Given the description of an element on the screen output the (x, y) to click on. 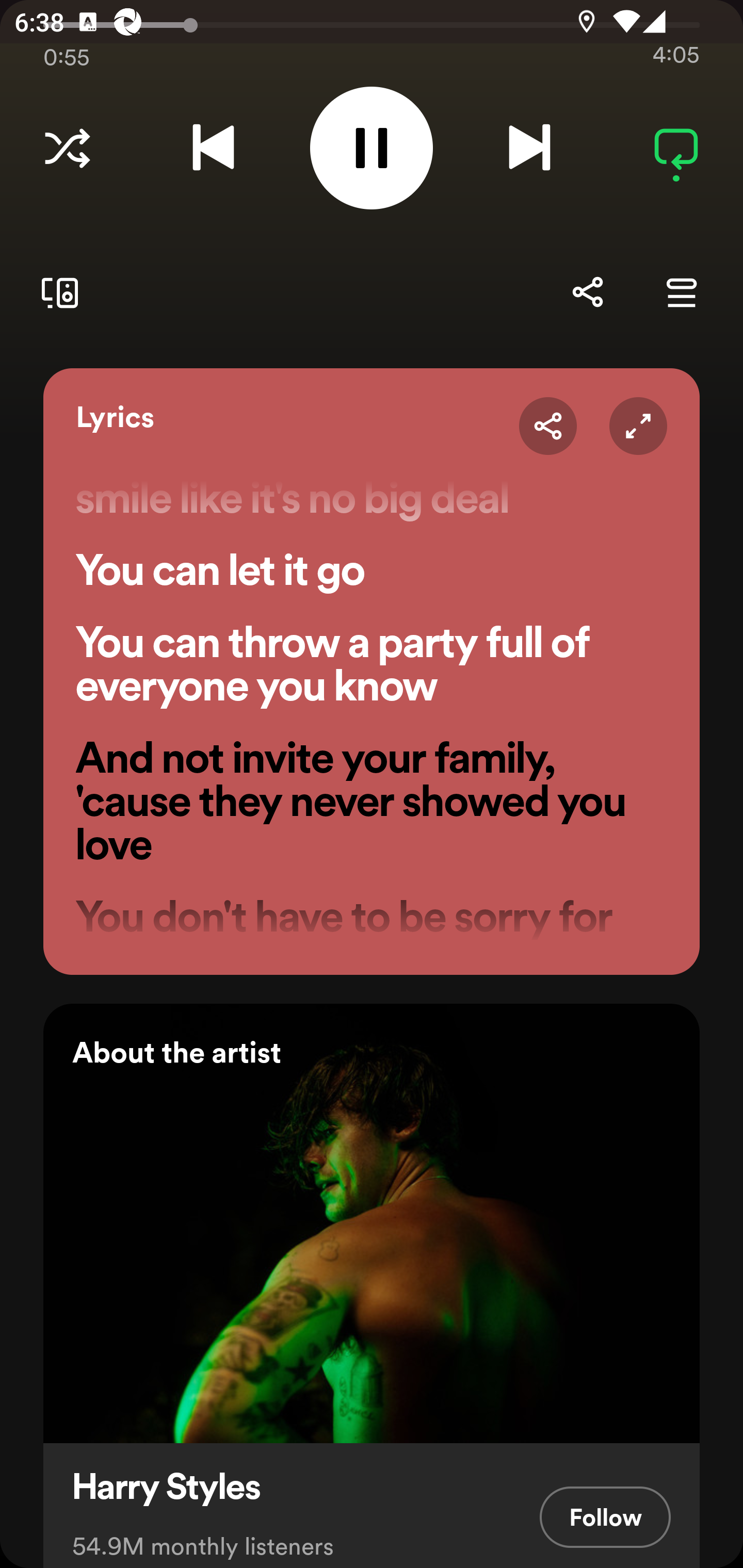
Pause (371, 148)
Previous (212, 147)
Next (529, 147)
Choose a Listening Mode (66, 147)
Repeat (676, 147)
Share (587, 292)
Go to Queue (681, 292)
Connect to a device. Opens the devices menu (55, 291)
Share (547, 425)
Expand (638, 425)
Follow Follow this Artist (604, 1516)
